Given the description of an element on the screen output the (x, y) to click on. 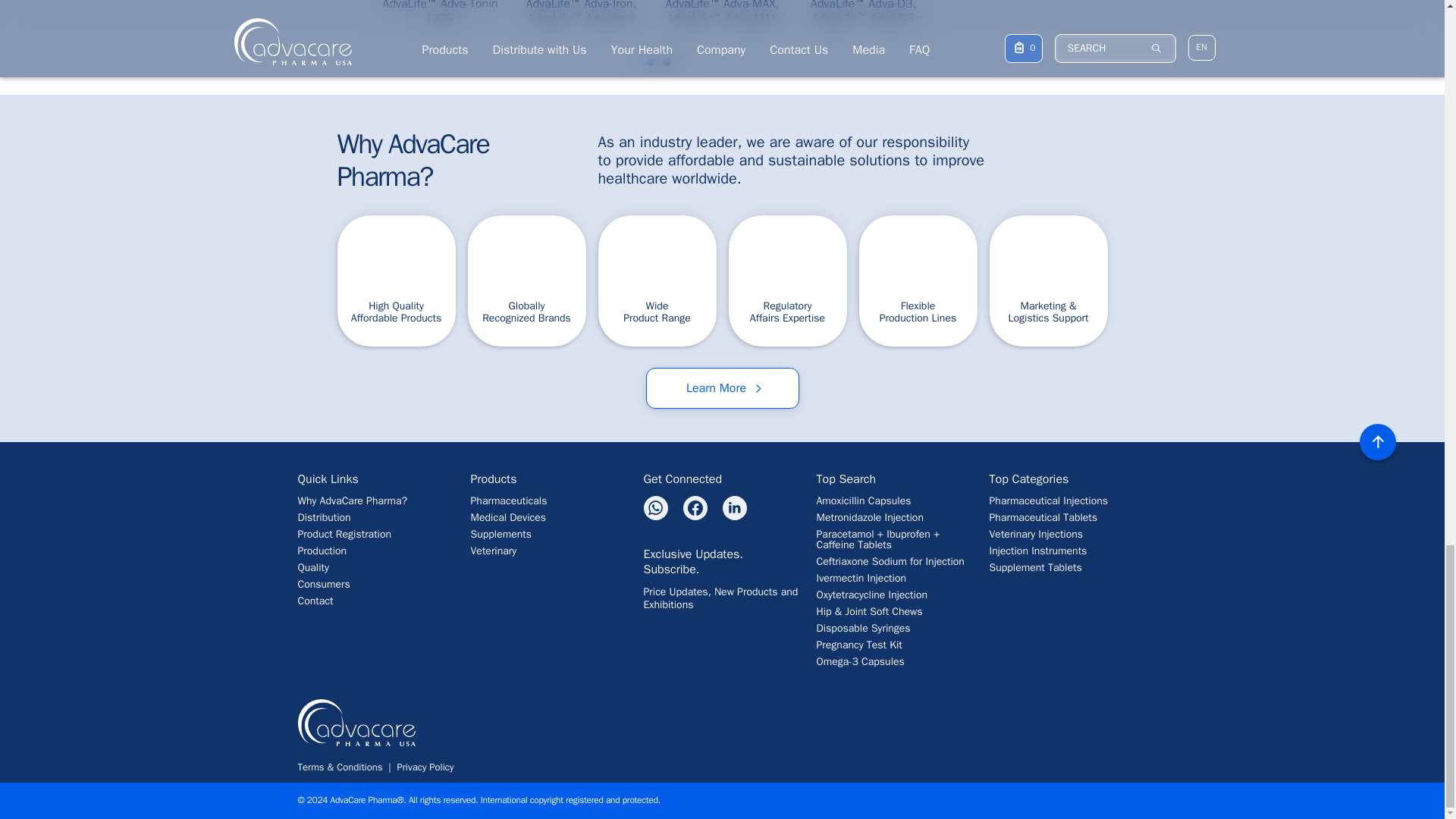
Sleep Gummies (439, 20)
Contact Us (375, 601)
Omega-3 Gummies (1286, 20)
Distribute With Us (375, 501)
Vitamin D Gummies (862, 20)
Company (375, 567)
Medical Devices (548, 517)
Distribute With Us (722, 387)
Iron Gummies (580, 20)
Supplements (548, 534)
Why AdvaCare Pharma? (460, 160)
Distribute With Us (375, 517)
Distribute With Us (375, 534)
Appetite Stimulant Gummies (1144, 20)
Multivitamin Gummies (722, 20)
